Given the description of an element on the screen output the (x, y) to click on. 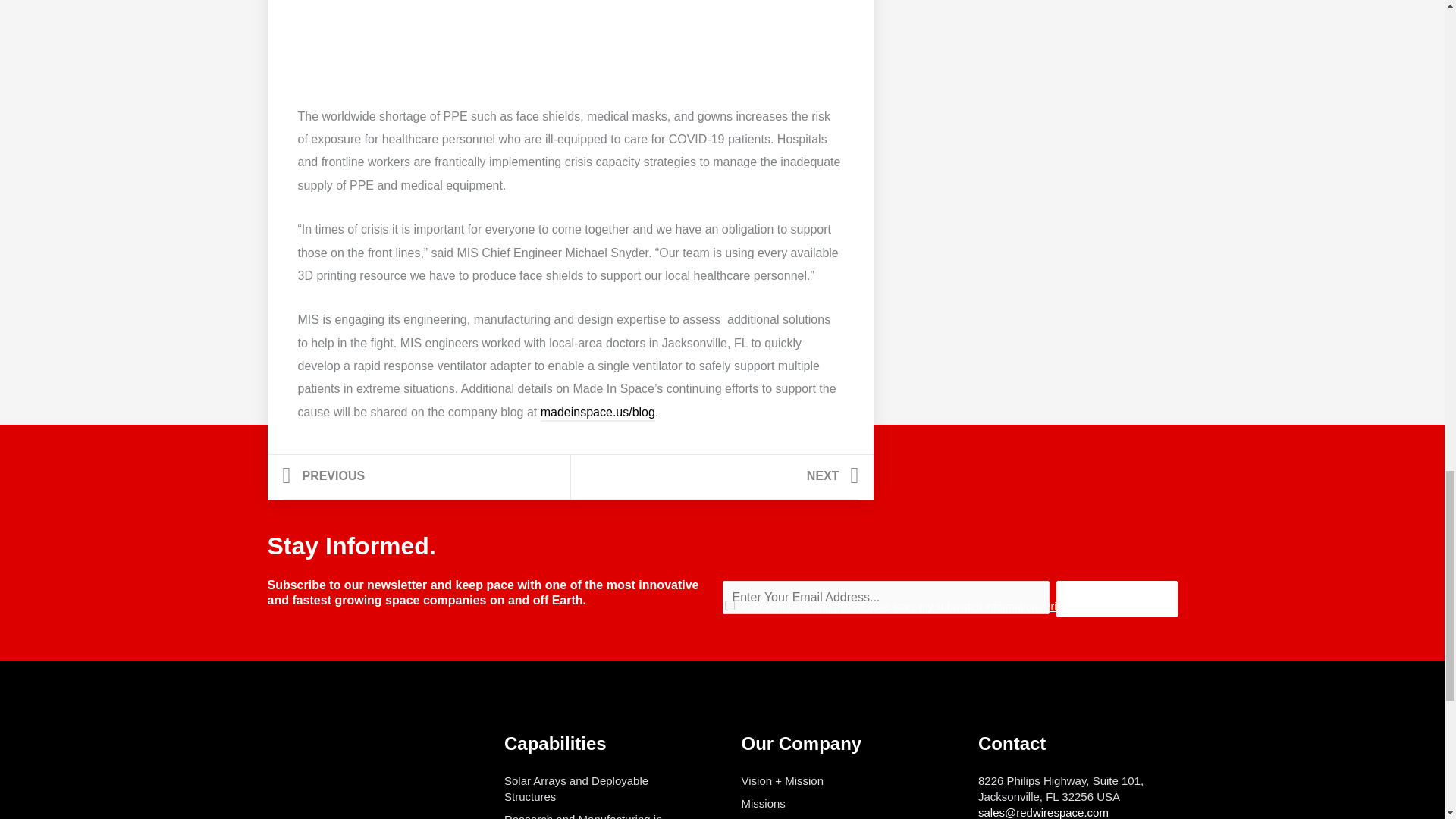
Email Sales (714, 477)
